Given the description of an element on the screen output the (x, y) to click on. 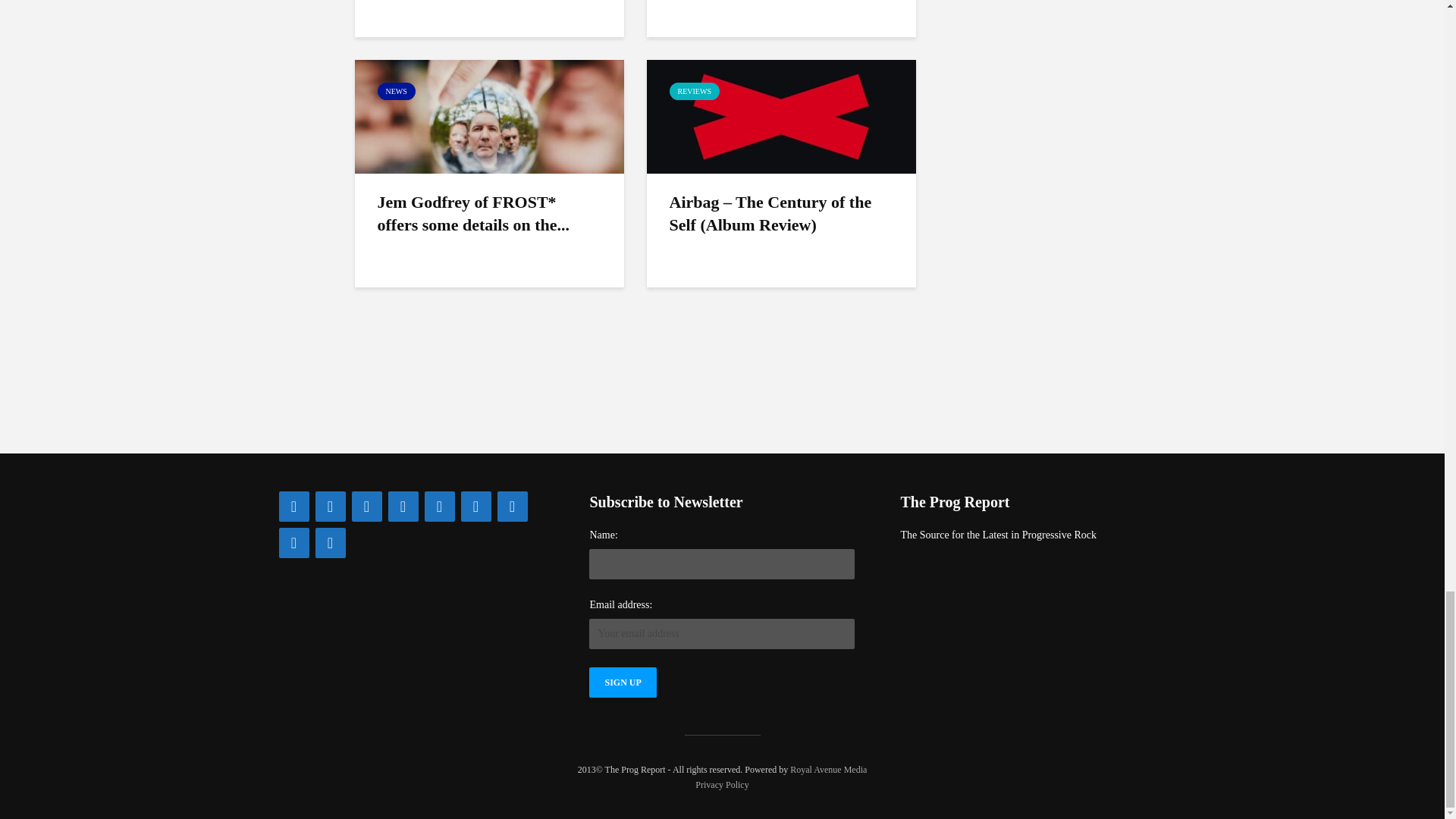
Twitter (330, 506)
Instagram (366, 506)
YouTube (439, 506)
Facebook (293, 506)
Sign up (622, 682)
Contact (403, 506)
